Given the description of an element on the screen output the (x, y) to click on. 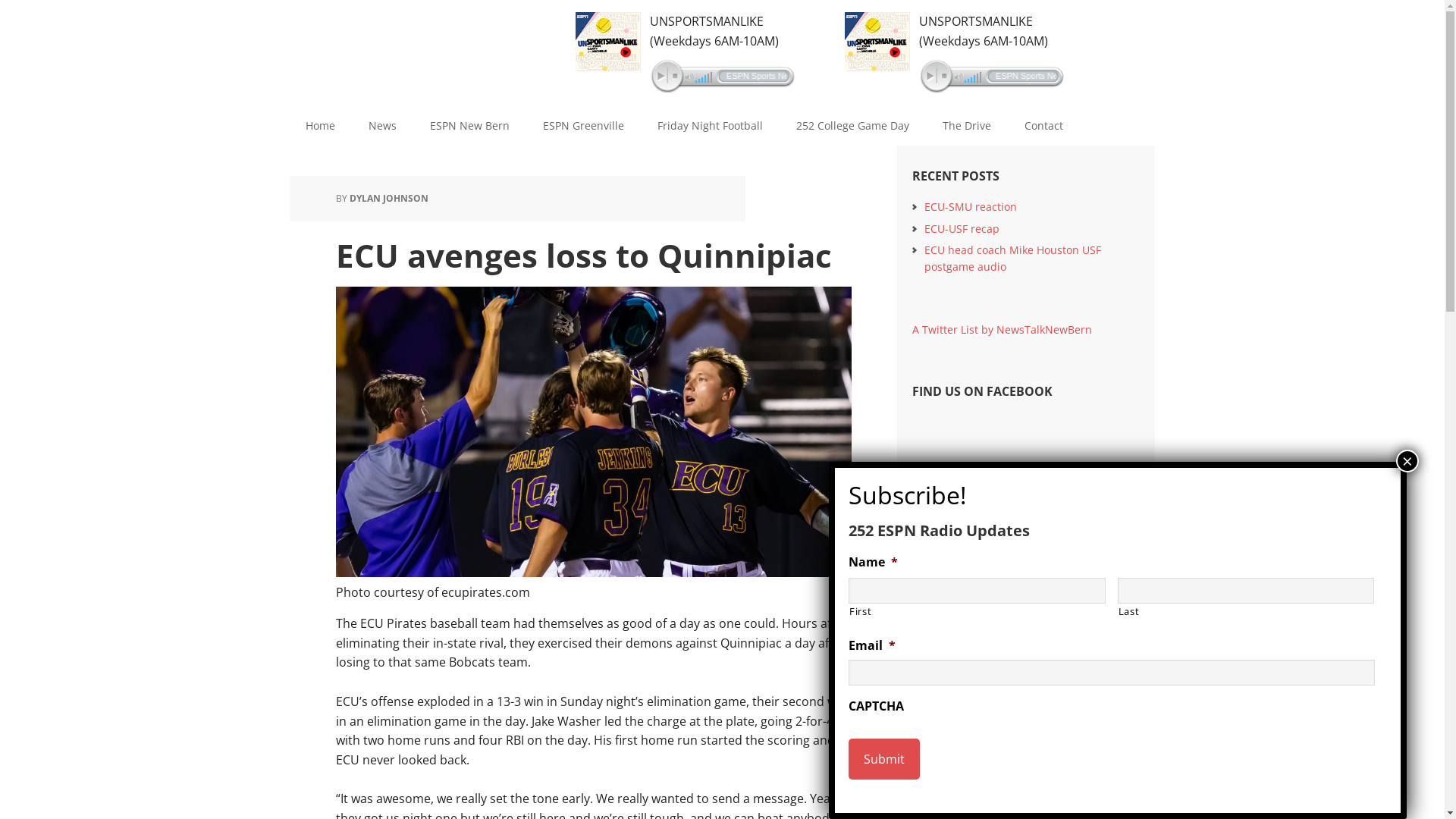
ESPN HEADLINES Element type: text (975, 466)
DYLAN JOHNSON Element type: text (387, 197)
252 ESPN Radio Element type: text (422, 46)
Hasselbach, 2-time SB champ with Broncos, dies Element type: text (1011, 583)
Blackhawks lose Hall for season to ACL surgery Element type: text (1021, 621)
Rodrygo tells racists: 'Bad luck, we will not stop' Element type: text (1030, 659)
A Twitter List by NewsTalkNewBern Element type: text (1001, 329)
ESPN New Bern Element type: text (469, 125)
Submit Element type: text (883, 758)
ECU head coach Mike Houston USF postgame audio Element type: text (1011, 257)
News Element type: text (382, 125)
Home Element type: text (319, 125)
Friday Night Football Element type: text (709, 125)
ECU-SMU reaction Element type: text (969, 206)
Contact Element type: text (1042, 125)
CMC stars as 49ers continue run at rival Seattle Element type: text (1025, 544)
252 College Game Day Element type: text (852, 125)
ESPN Greenville Element type: text (583, 125)
The Drive Element type: text (965, 125)
ECU-USF recap Element type: text (960, 228)
